Given the description of an element on the screen output the (x, y) to click on. 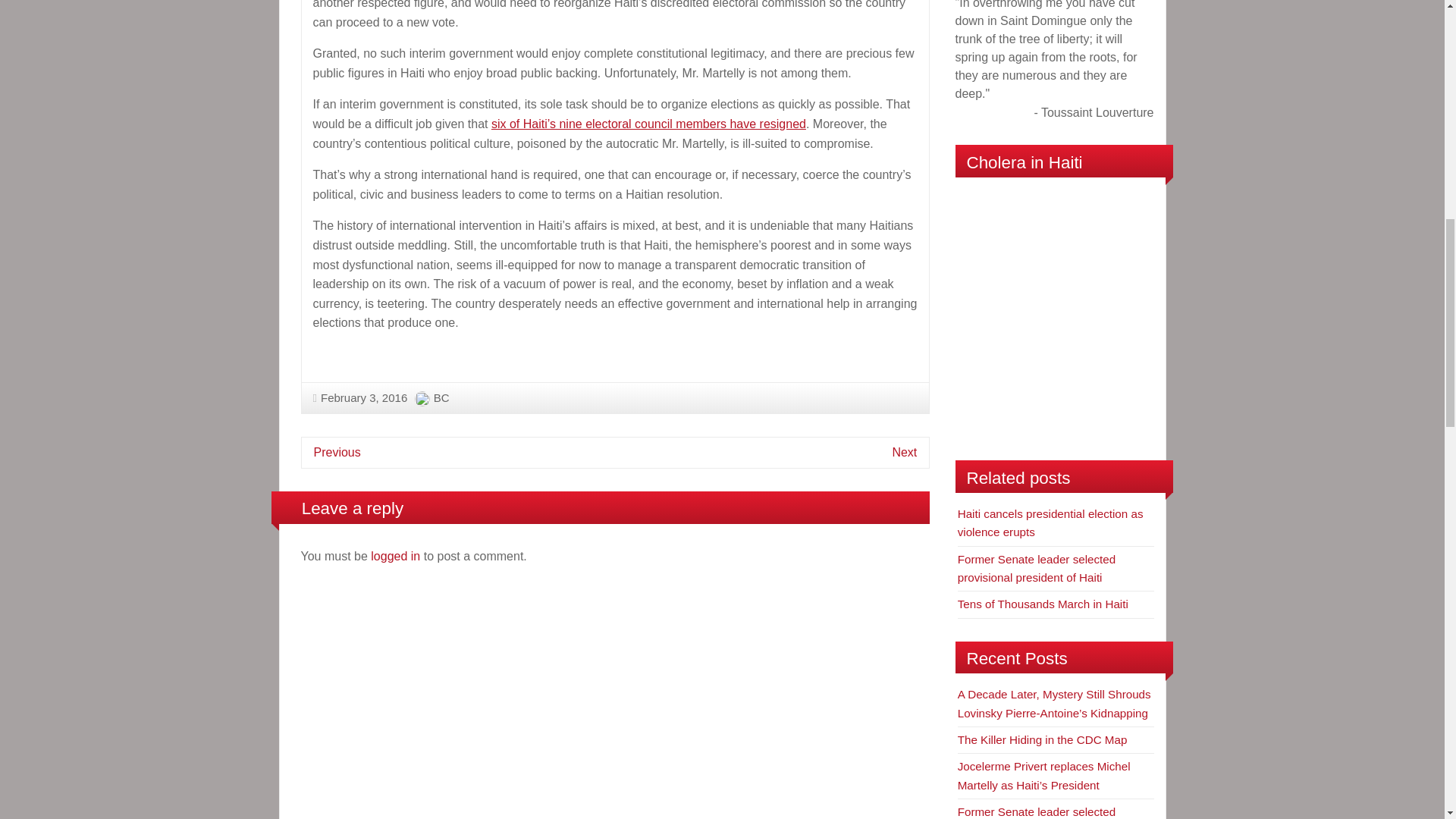
BC (441, 397)
Haiti cancels presidential election as violence erupts (1050, 522)
Tens of Thousands March in Haiti (1043, 603)
Previous (337, 451)
The Killer Hiding in the CDC Map (1042, 739)
Next (904, 451)
logged in (395, 555)
February 3, 2016 (360, 397)
Former Senate leader selected provisional president of Haiti (1037, 812)
Former Senate leader selected provisional president of Haiti (1037, 567)
